Given the description of an element on the screen output the (x, y) to click on. 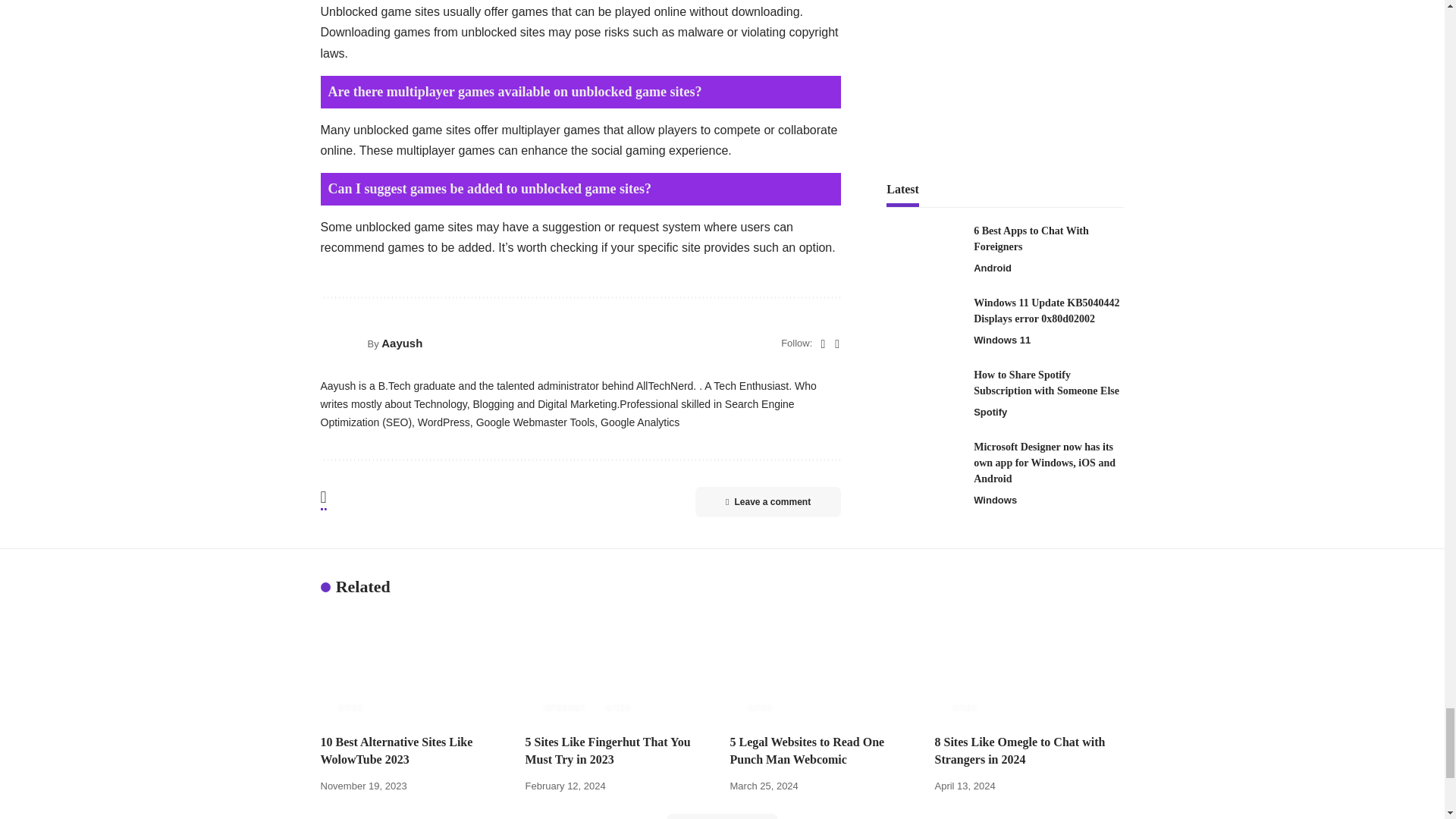
10 Best Alternative Sites Like WolowTube 2023 (414, 666)
8 Sites Like Omegle to Chat with Strangers in 2024 (1029, 666)
5 Legal Websites to Read One Punch Man Webcomic (823, 666)
5 Sites Like Fingerhut That You Must Try in 2023 (619, 666)
